Given the description of an element on the screen output the (x, y) to click on. 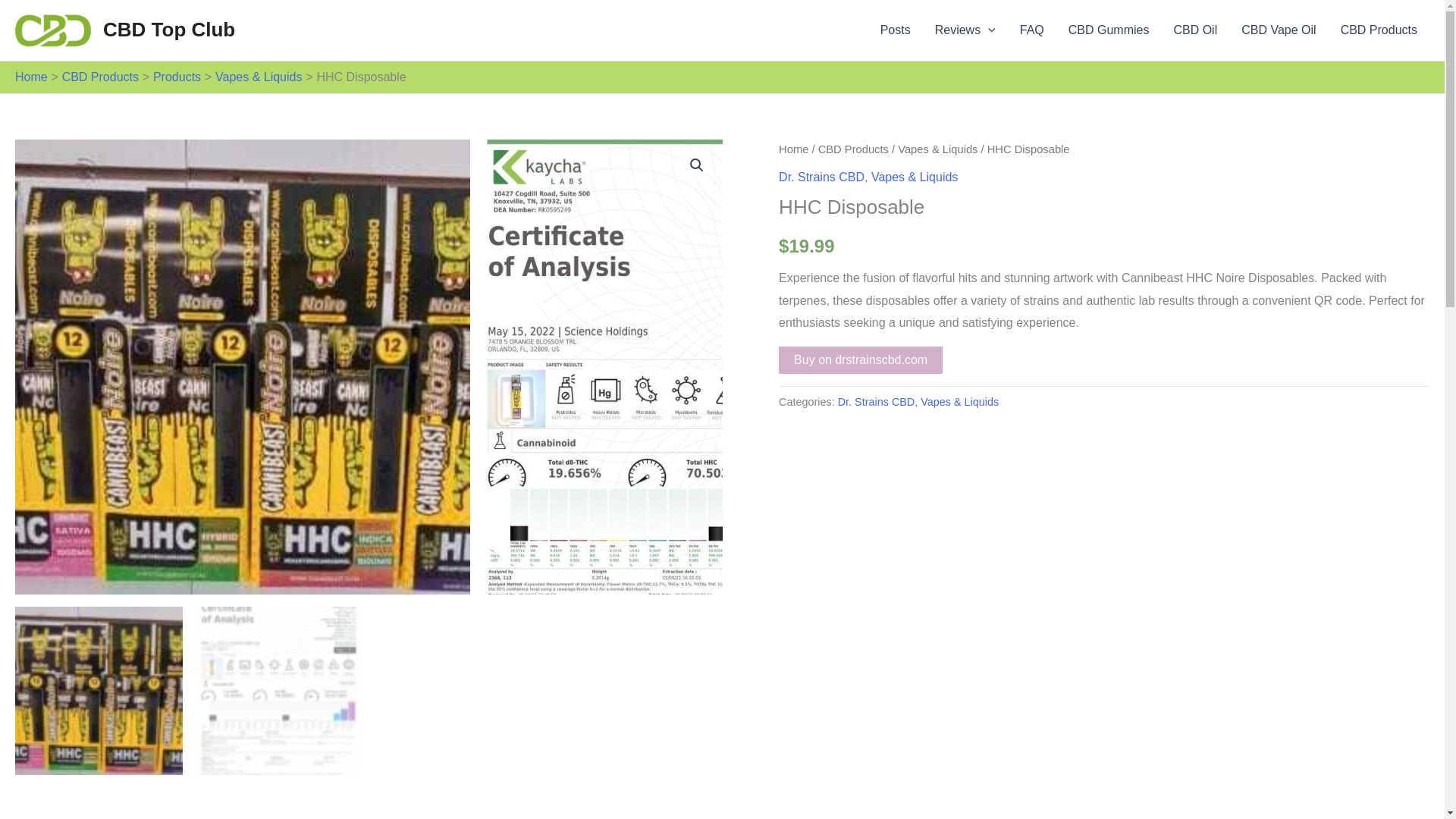
CBD Vape Oil (1277, 30)
Posts (895, 30)
Dr. Strains CBD (821, 176)
Home (793, 149)
Products (176, 76)
Dr. Strains CBD (876, 401)
Home (31, 76)
Reviews (965, 30)
CBD Gummies (1109, 30)
CBD Products (100, 76)
CBD Products (853, 149)
CBD Products (1378, 30)
CBD Oil (1194, 30)
CBD Top Club (168, 29)
